Given the description of an element on the screen output the (x, y) to click on. 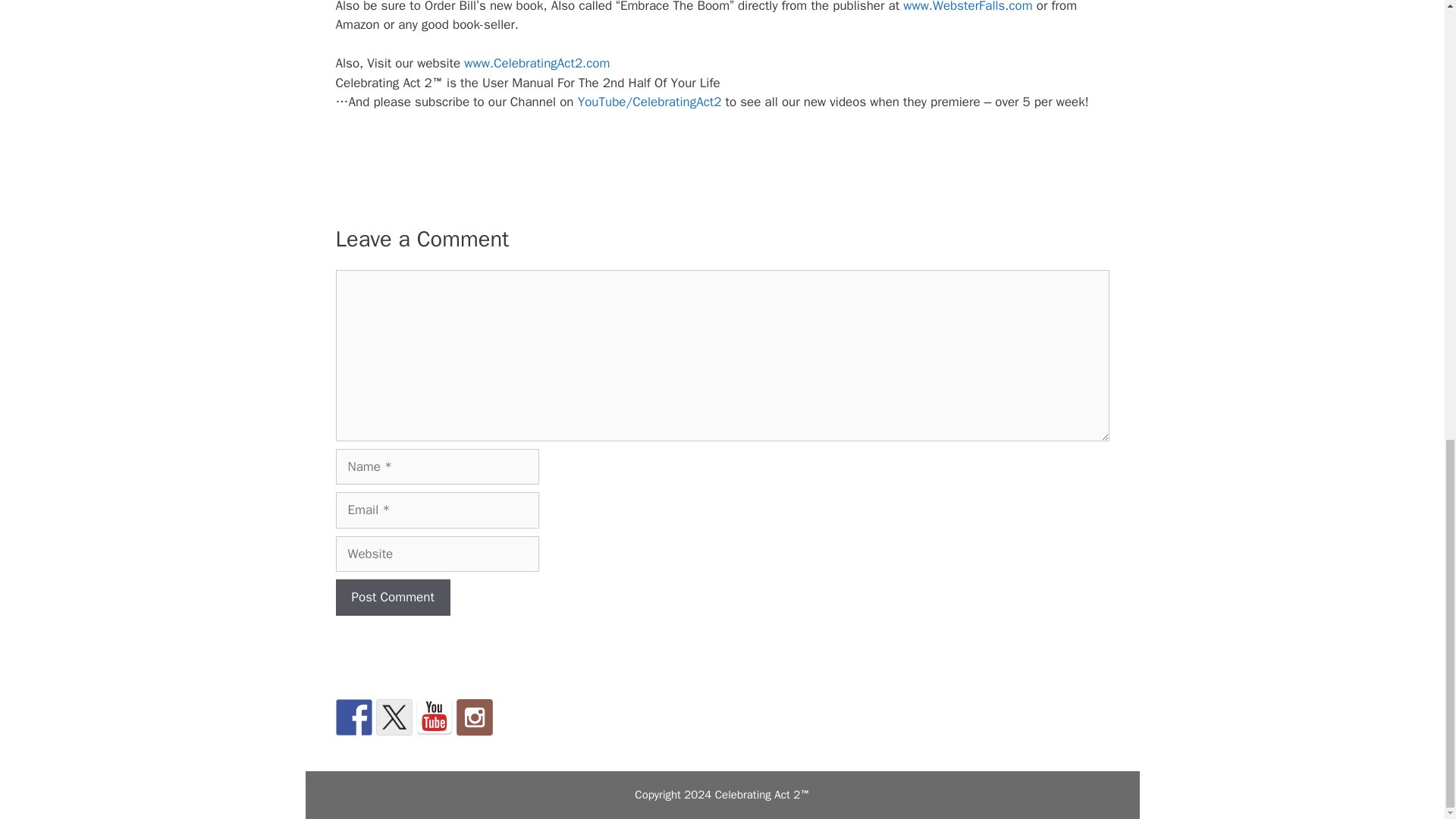
Check out our instagram feed (475, 717)
www.WebsterFalls.com (967, 6)
Follow us on Facebook (352, 717)
Post Comment (391, 597)
www.CelebratingAct2.com (537, 63)
Scroll back to top (1406, 583)
Follow us on Twitter (393, 717)
Find us on YouTube (432, 717)
Post Comment (391, 597)
